Given the description of an element on the screen output the (x, y) to click on. 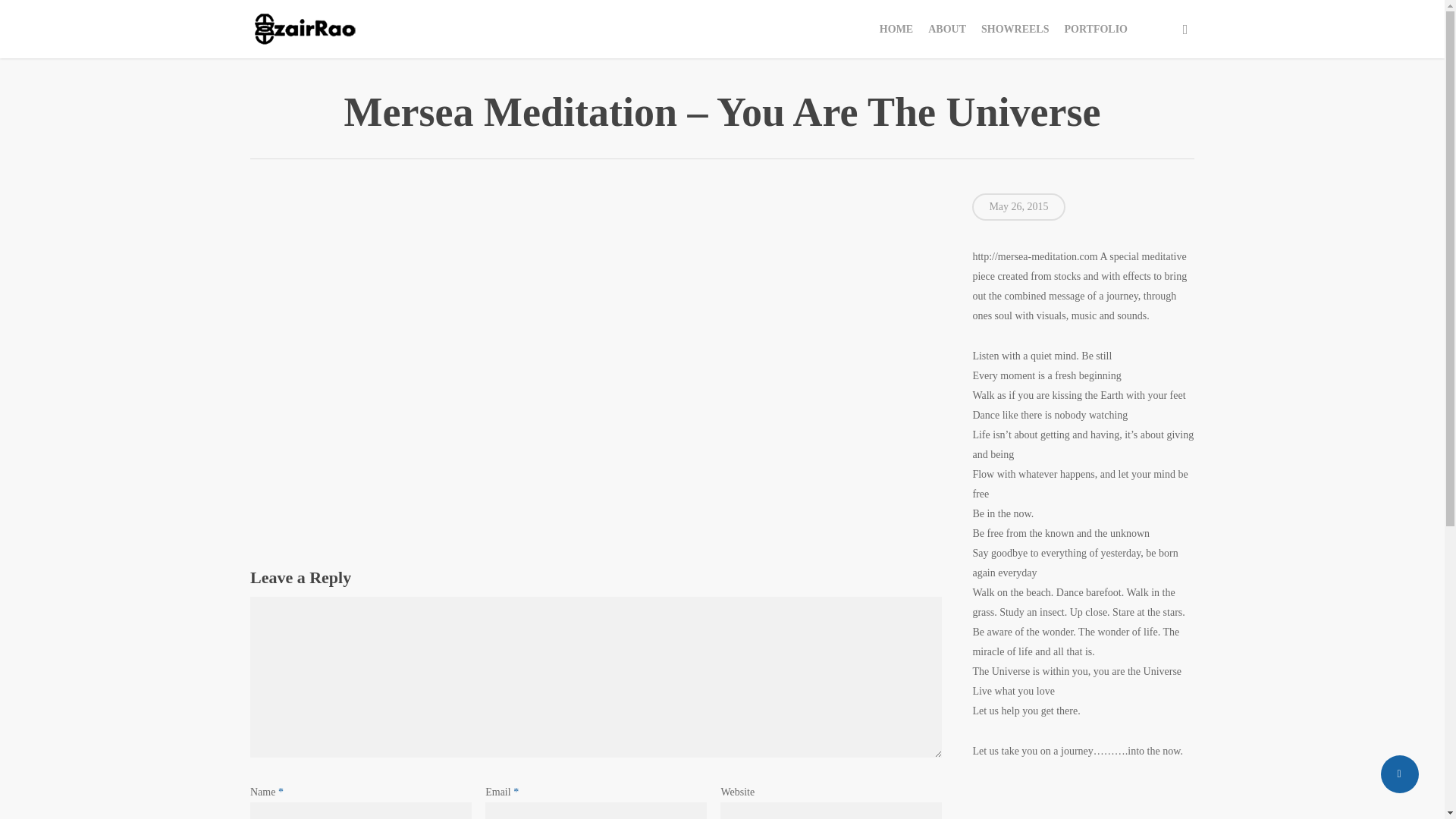
ABOUT (947, 29)
search (1184, 28)
SHOWREELS (1015, 29)
HOME (896, 29)
PORTFOLIO (1096, 29)
English (1142, 28)
